Given the description of an element on the screen output the (x, y) to click on. 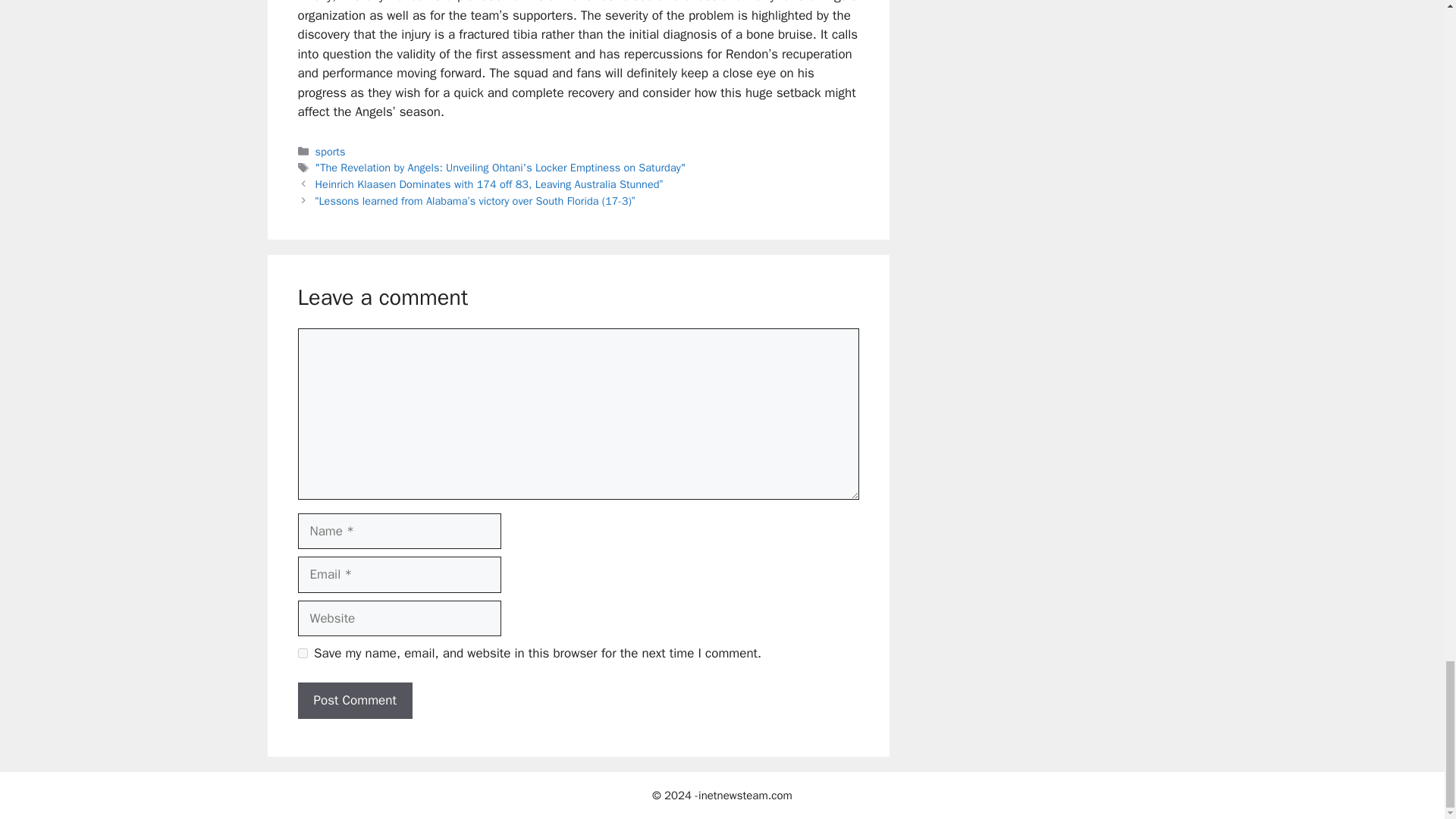
Post Comment (354, 700)
Post Comment (354, 700)
yes (302, 653)
sports (330, 151)
